Given the description of an element on the screen output the (x, y) to click on. 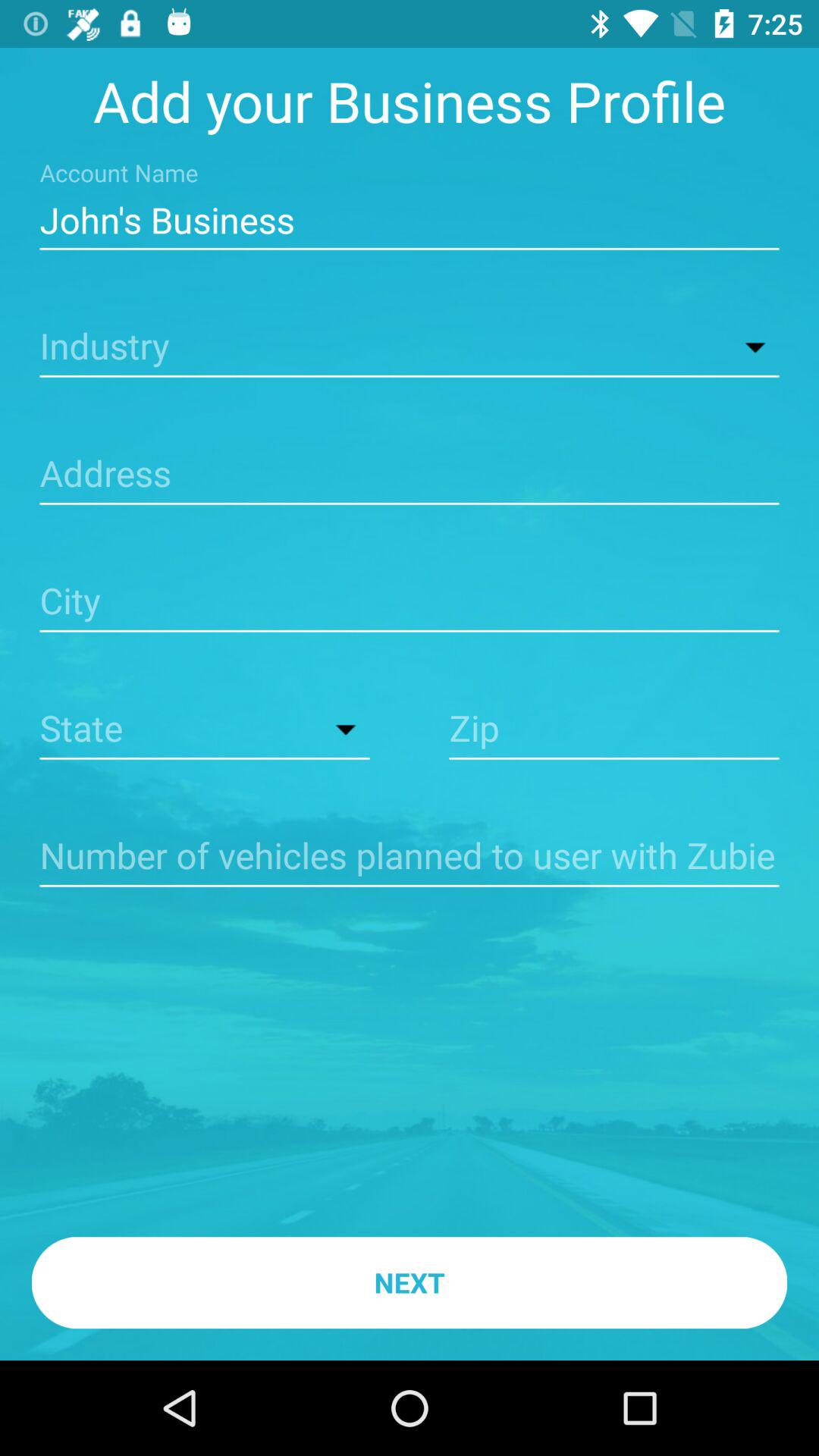
sub menu entry (409, 348)
